Given the description of an element on the screen output the (x, y) to click on. 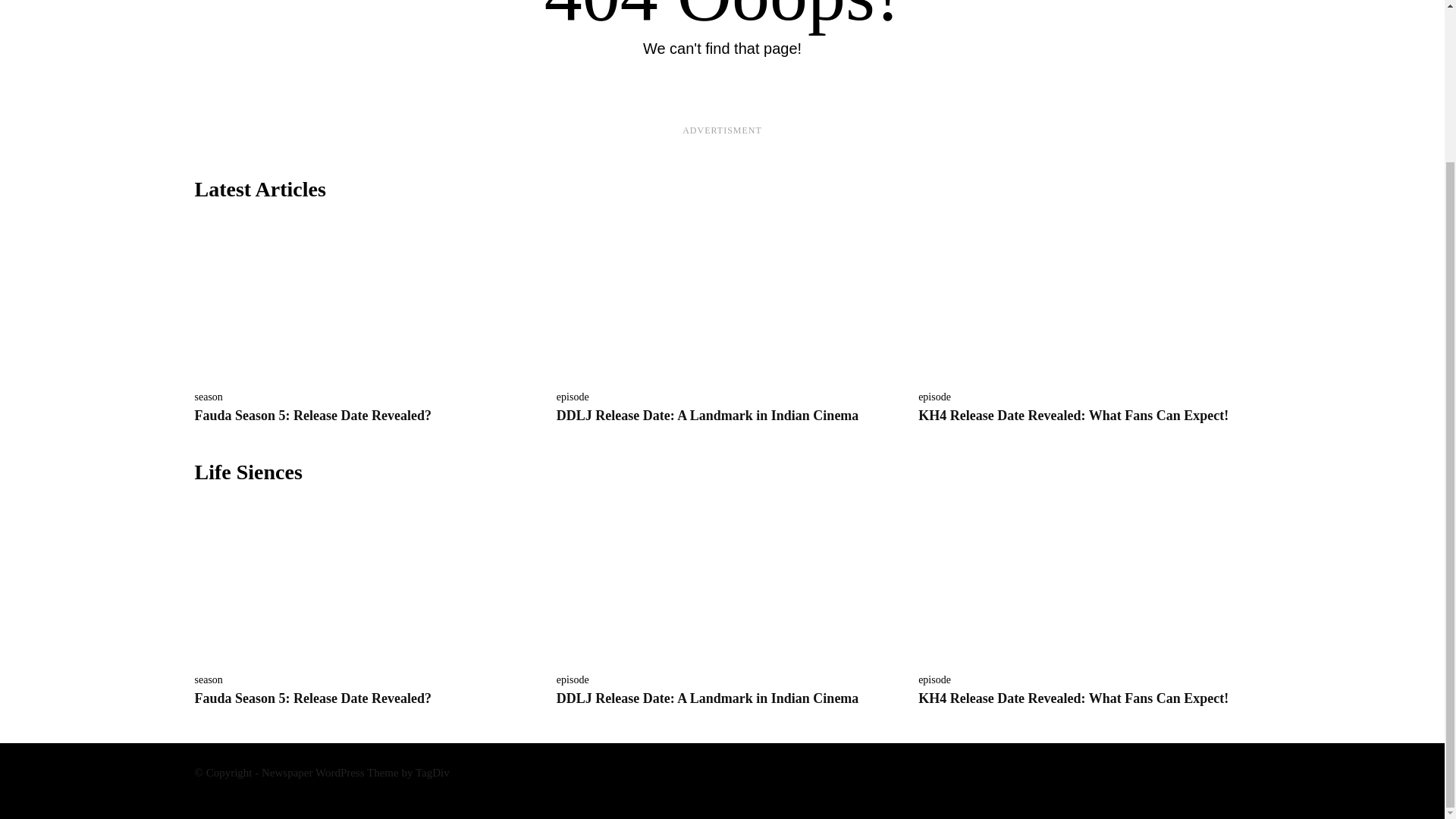
Fauda Season 5: Release Date Revealed? (311, 415)
DDLJ Release Date: A Landmark in Indian Cinema (707, 698)
Fauda Season 5: Release Date Revealed? (359, 299)
DDLJ Release Date: A Landmark in Indian Cinema (722, 581)
KH4 Release Date Revealed: What Fans Can Expect! (1073, 698)
Fauda Season 5: Release Date Revealed? (311, 415)
KH4 Release Date Revealed: What Fans Can Expect! (1083, 581)
season (207, 397)
Fauda Season 5: Release Date Revealed? (359, 581)
Fauda Season 5: Release Date Revealed? (311, 698)
